Given the description of an element on the screen output the (x, y) to click on. 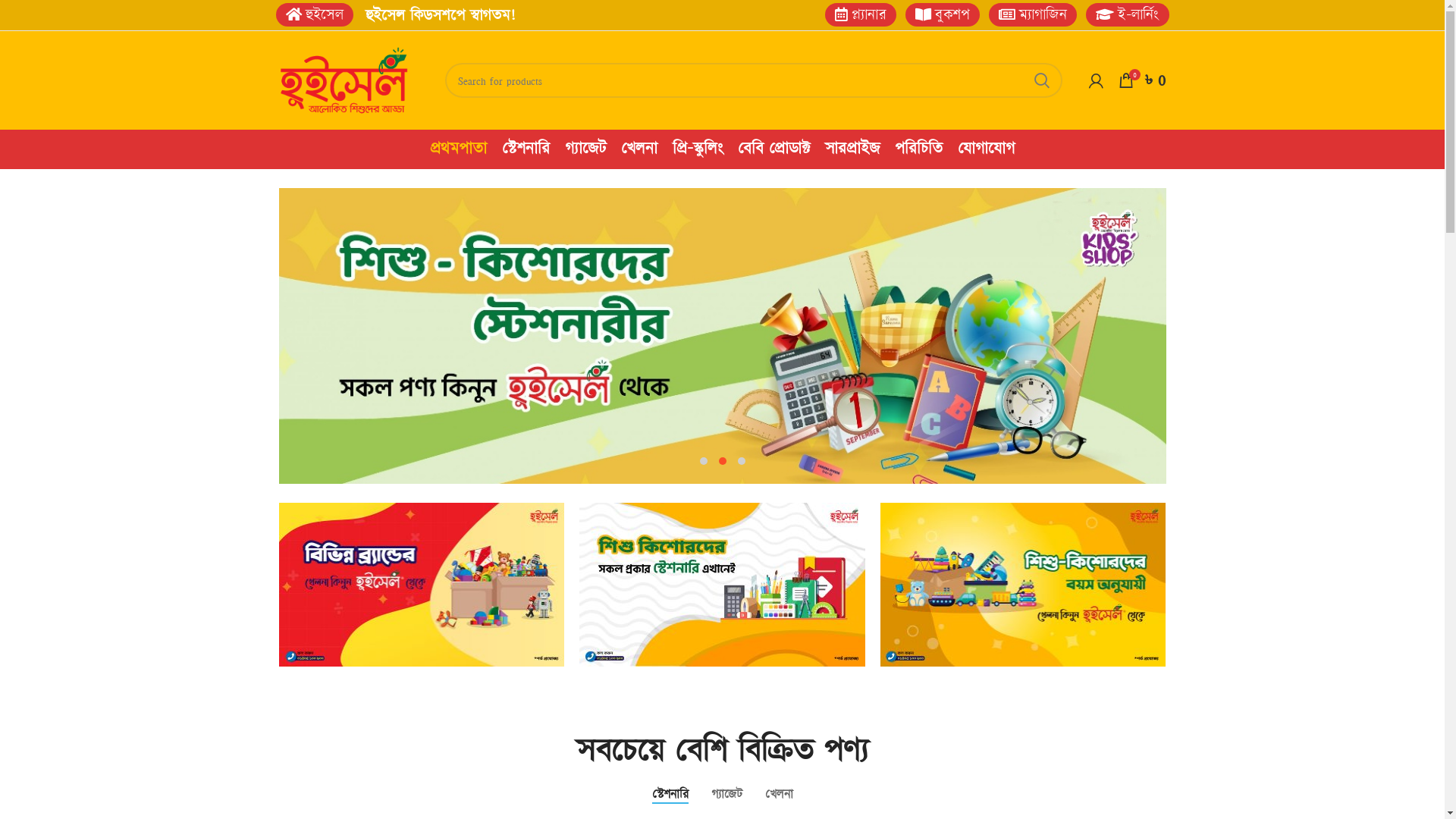
My account Element type: hover (1095, 80)
banner1 Element type: hover (421, 584)
banner2 Element type: hover (722, 584)
banner3 Element type: hover (1023, 584)
Search for products Element type: hover (752, 79)
SEARCH Element type: text (1041, 79)
